Given the description of an element on the screen output the (x, y) to click on. 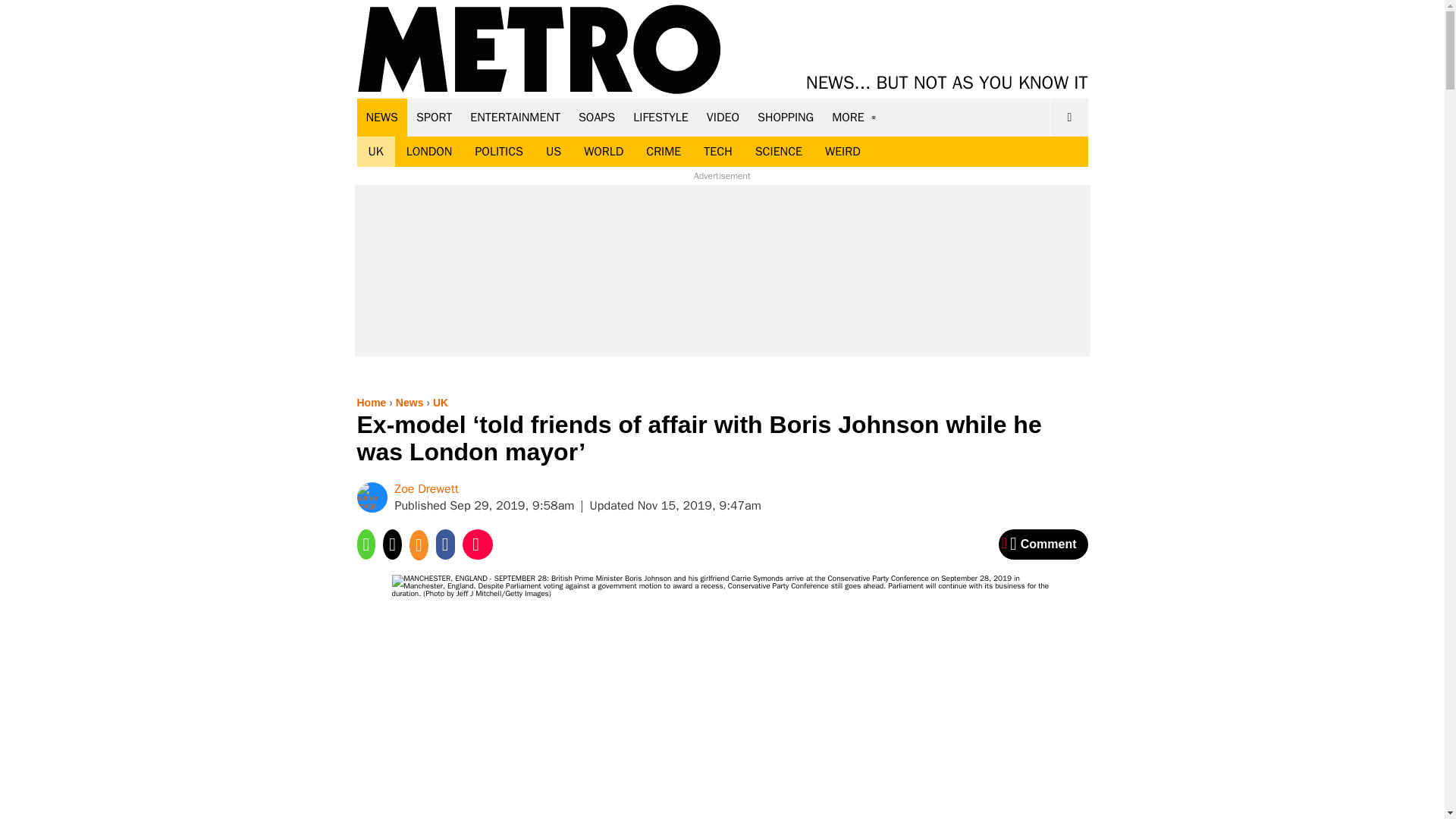
LIFESTYLE (660, 117)
WEIRD (842, 151)
NEWS (381, 117)
ENTERTAINMENT (515, 117)
US (553, 151)
SCIENCE (778, 151)
SPORT (434, 117)
CRIME (663, 151)
LONDON (429, 151)
WORLD (603, 151)
